Given the description of an element on the screen output the (x, y) to click on. 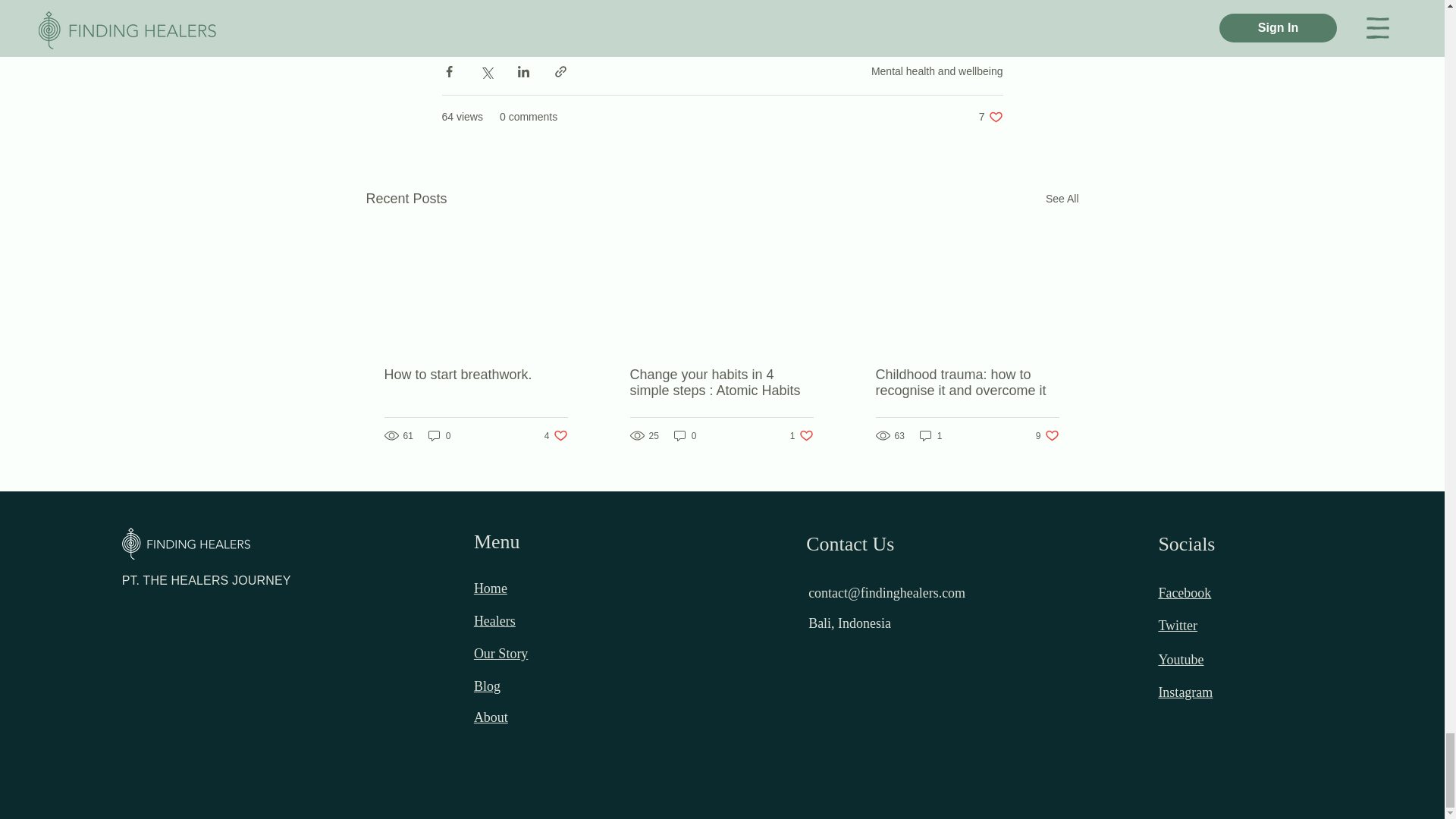
trauma (990, 116)
How to start breathwork. (468, 14)
See All (475, 374)
0 (1061, 198)
inner child (439, 435)
Mental health and wellbeing (622, 14)
shadow work (936, 70)
